Given the description of an element on the screen output the (x, y) to click on. 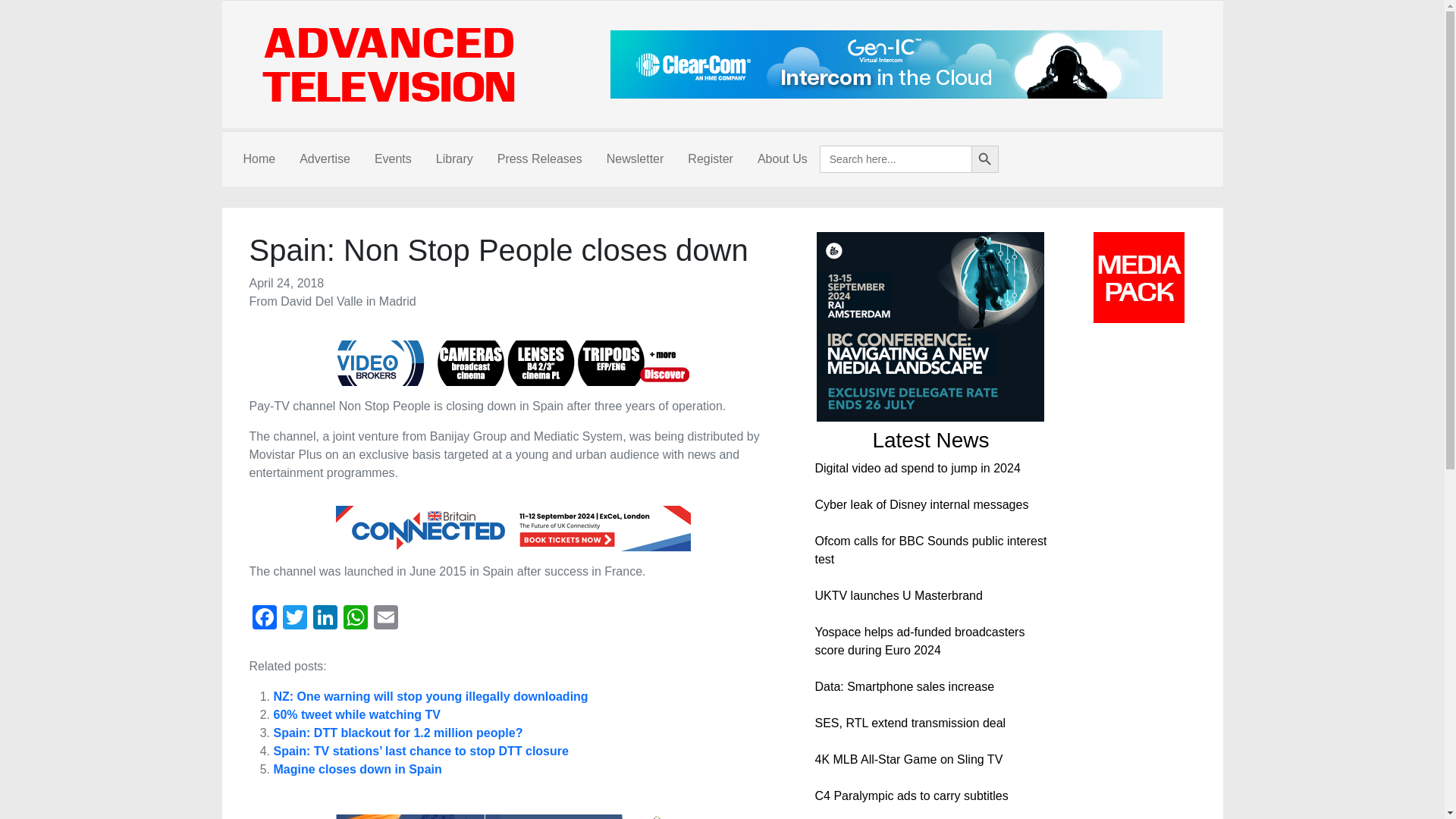
About Us (782, 158)
Spain: DTT blackout for 1.2 million people? (397, 732)
LinkedIn (323, 619)
Register (710, 158)
Events (392, 158)
Twitter (293, 619)
4K MLB All-Star Game on Sling TV (908, 758)
Data: Smartphone sales increase (903, 686)
Magine closes down in Spain (357, 768)
Cyber leak of Disney internal messages (920, 504)
Digital video ad spend to jump in 2024 (916, 468)
Home (258, 158)
WhatsApp (354, 619)
NZ: One warning will stop young illegally downloading (430, 696)
Email (384, 619)
